Given the description of an element on the screen output the (x, y) to click on. 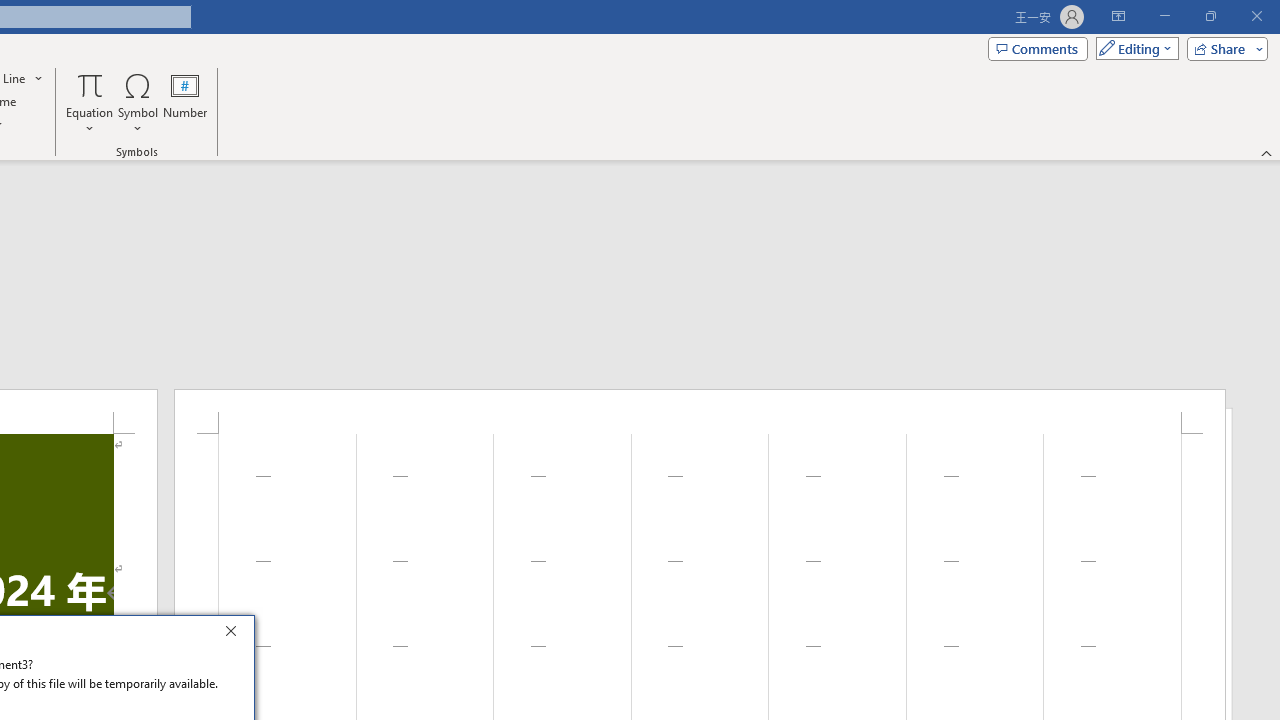
Number... (185, 102)
Equation (90, 84)
Equation (90, 102)
Symbol (138, 102)
